Given the description of an element on the screen output the (x, y) to click on. 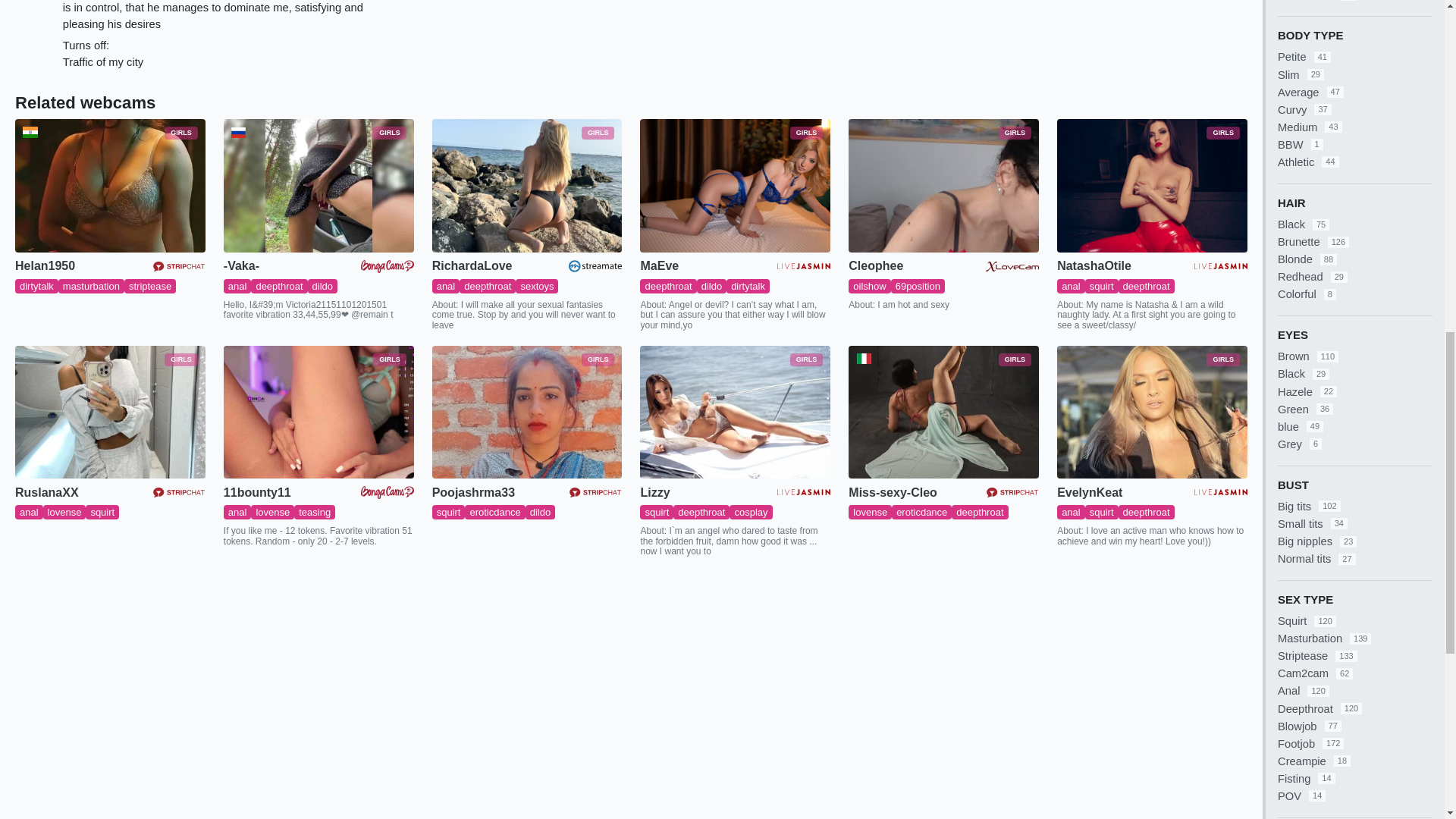
LizzyLive Webcam (734, 412)
Miss-sexy-CleoLive Webcam (943, 412)
MaEveLive Webcam (734, 185)
Helan1950Live Webcam (109, 185)
NatashaOtileLive Webcam (1152, 185)
-Vaka-Live Webcam (318, 185)
CleopheeLive Webcam (943, 185)
RichardaLoveLive Webcam (527, 185)
11bounty11Live Webcam (318, 412)
EvelynKeatLive Webcam (1152, 412)
Poojashrma33Live Webcam (527, 412)
RuslanaXXLive Webcam (109, 412)
